Given the description of an element on the screen output the (x, y) to click on. 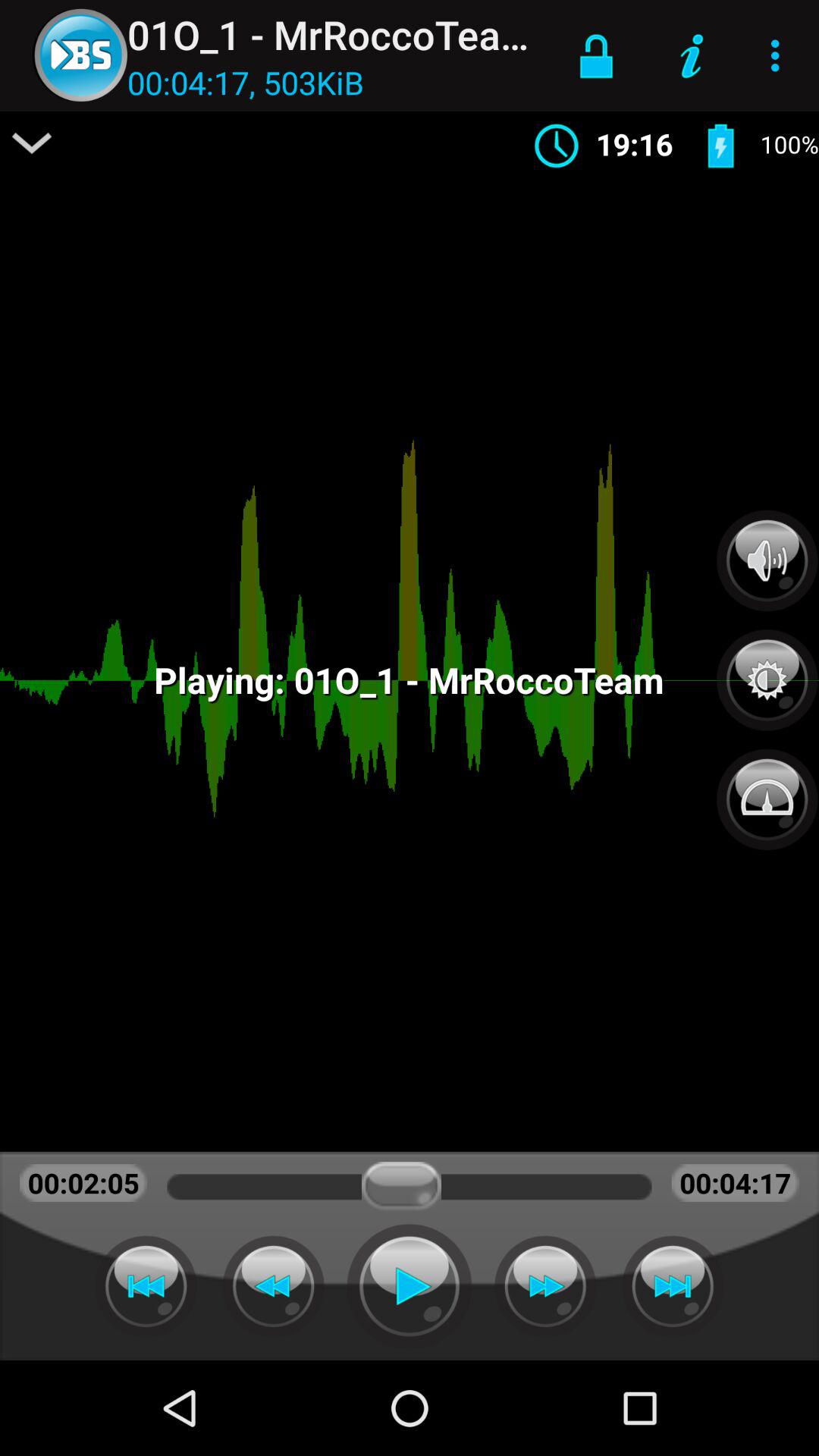
fast backwards (273, 1286)
